Given the description of an element on the screen output the (x, y) to click on. 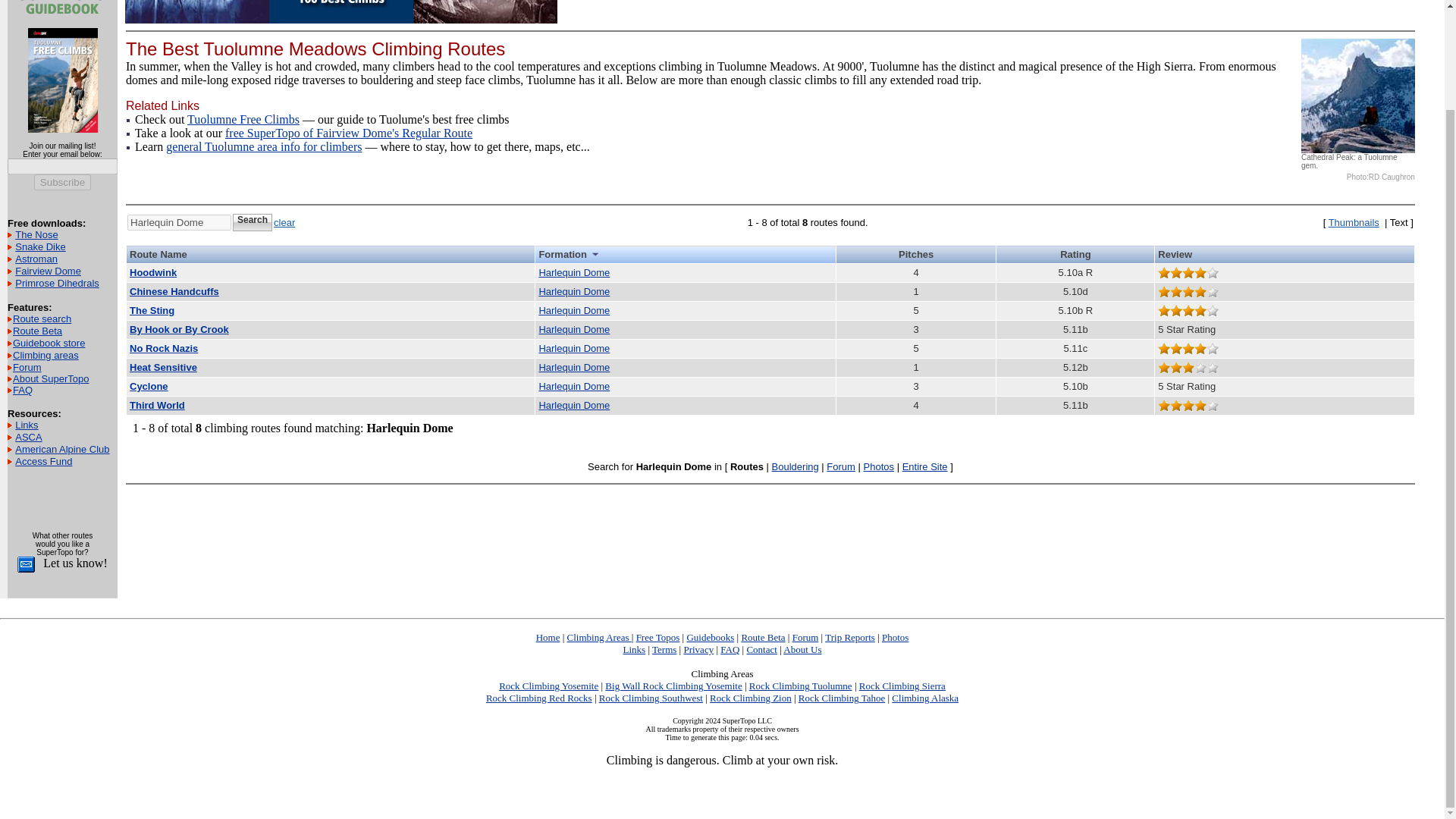
Access Fund (42, 460)
Astroman (36, 258)
Guidebook store (48, 342)
FAQ (22, 389)
Search (252, 221)
Links (25, 424)
Route Beta (37, 330)
clear (284, 222)
Subscribe (61, 182)
Climbing areas (45, 355)
Thumbnails (1352, 222)
Tuolumne Free Climbs (243, 119)
Snake Dike (39, 246)
free SuperTopo of Fairview Dome's Regular Route (348, 132)
The Nose (36, 234)
